Given the description of an element on the screen output the (x, y) to click on. 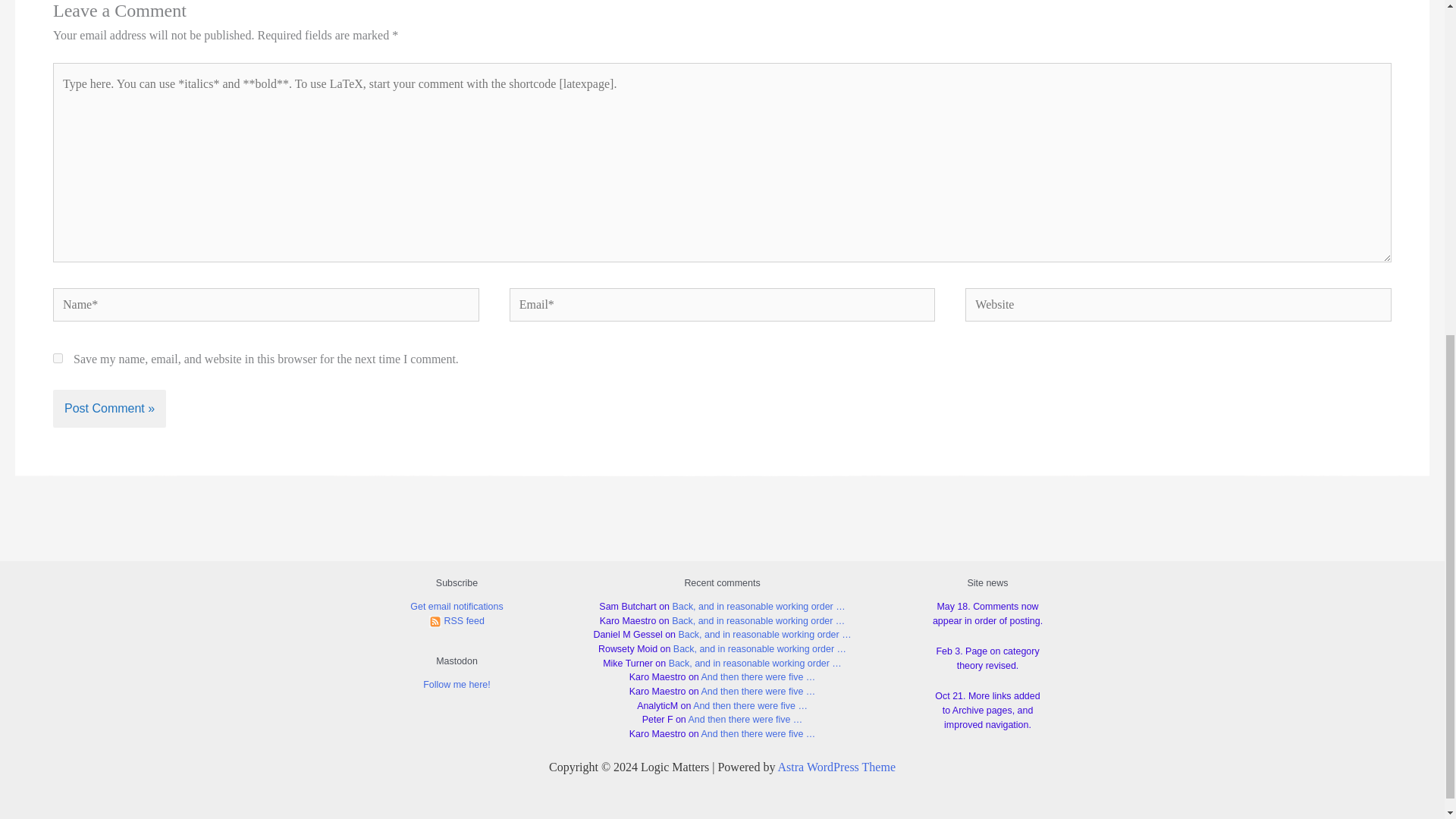
yes (57, 357)
